Given the description of an element on the screen output the (x, y) to click on. 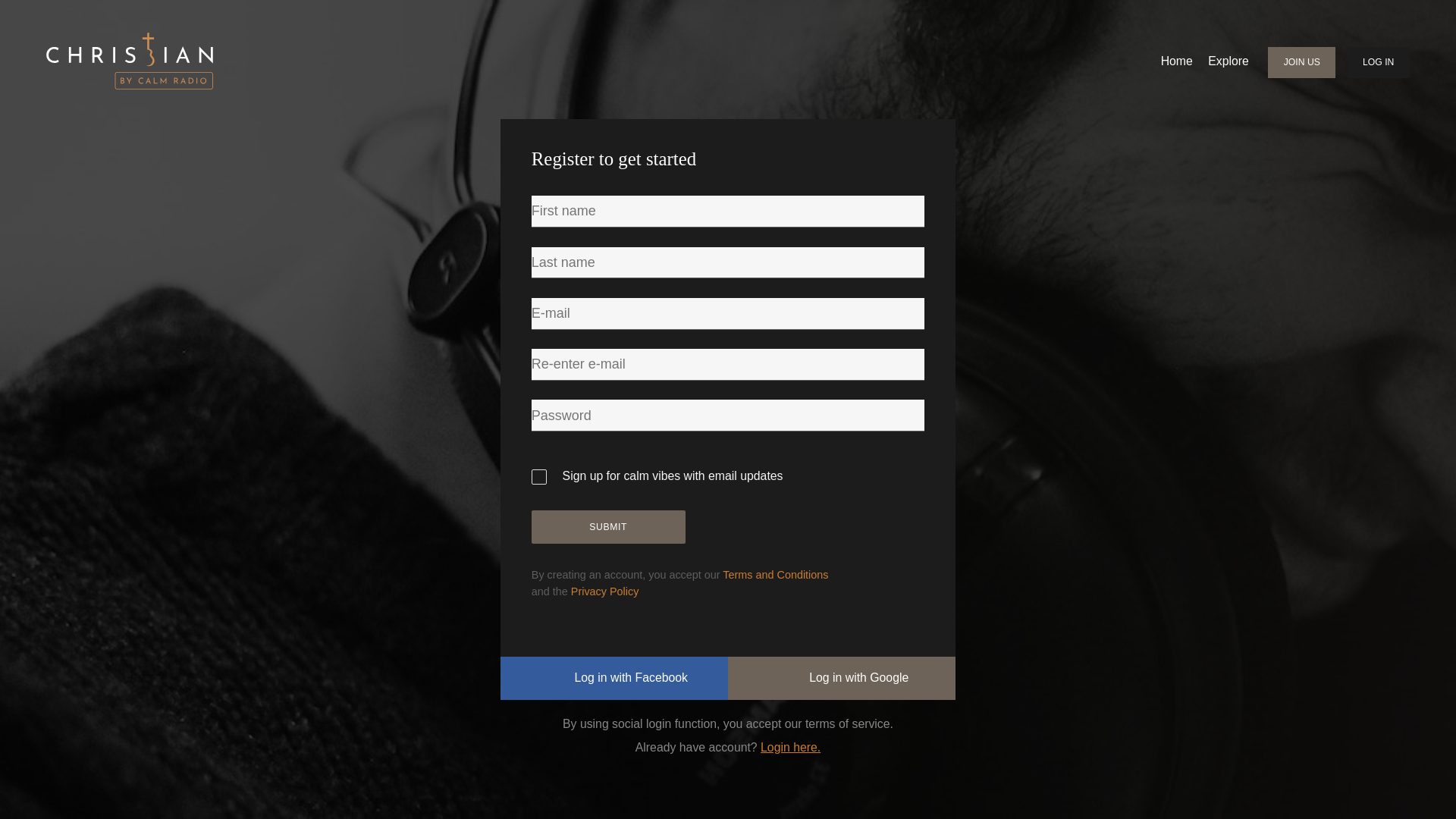
Privacy Policy (604, 591)
SUBMIT (608, 527)
Home (1176, 61)
Terms and Conditions (775, 574)
Log in with Facebook (614, 678)
Log in with Google (841, 678)
CalmChristian (129, 61)
Explore (1227, 61)
LOG IN (1378, 61)
Login here. (790, 747)
JOIN US (1301, 61)
